Given the description of an element on the screen output the (x, y) to click on. 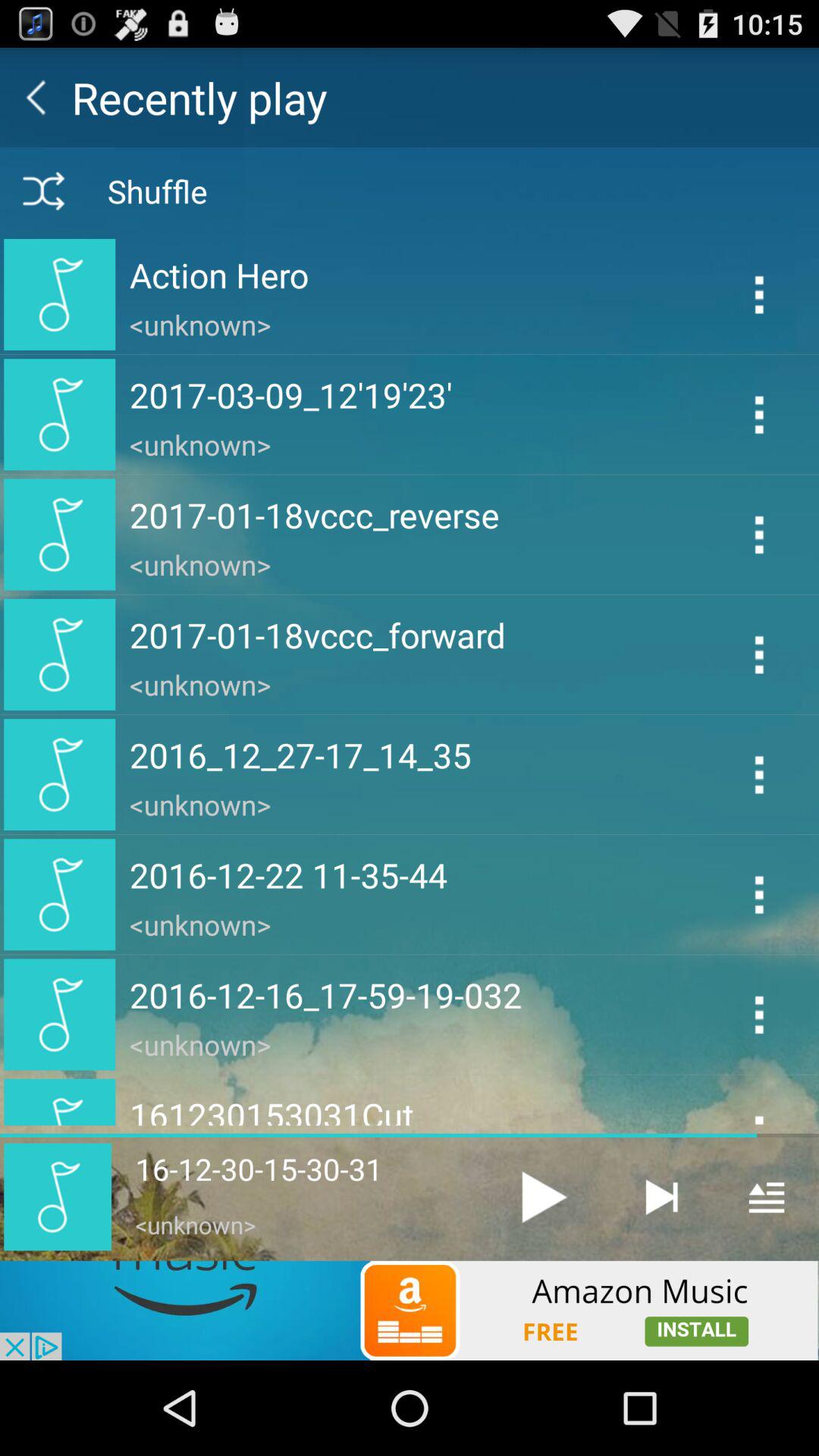
go back to previous page (35, 97)
